Given the description of an element on the screen output the (x, y) to click on. 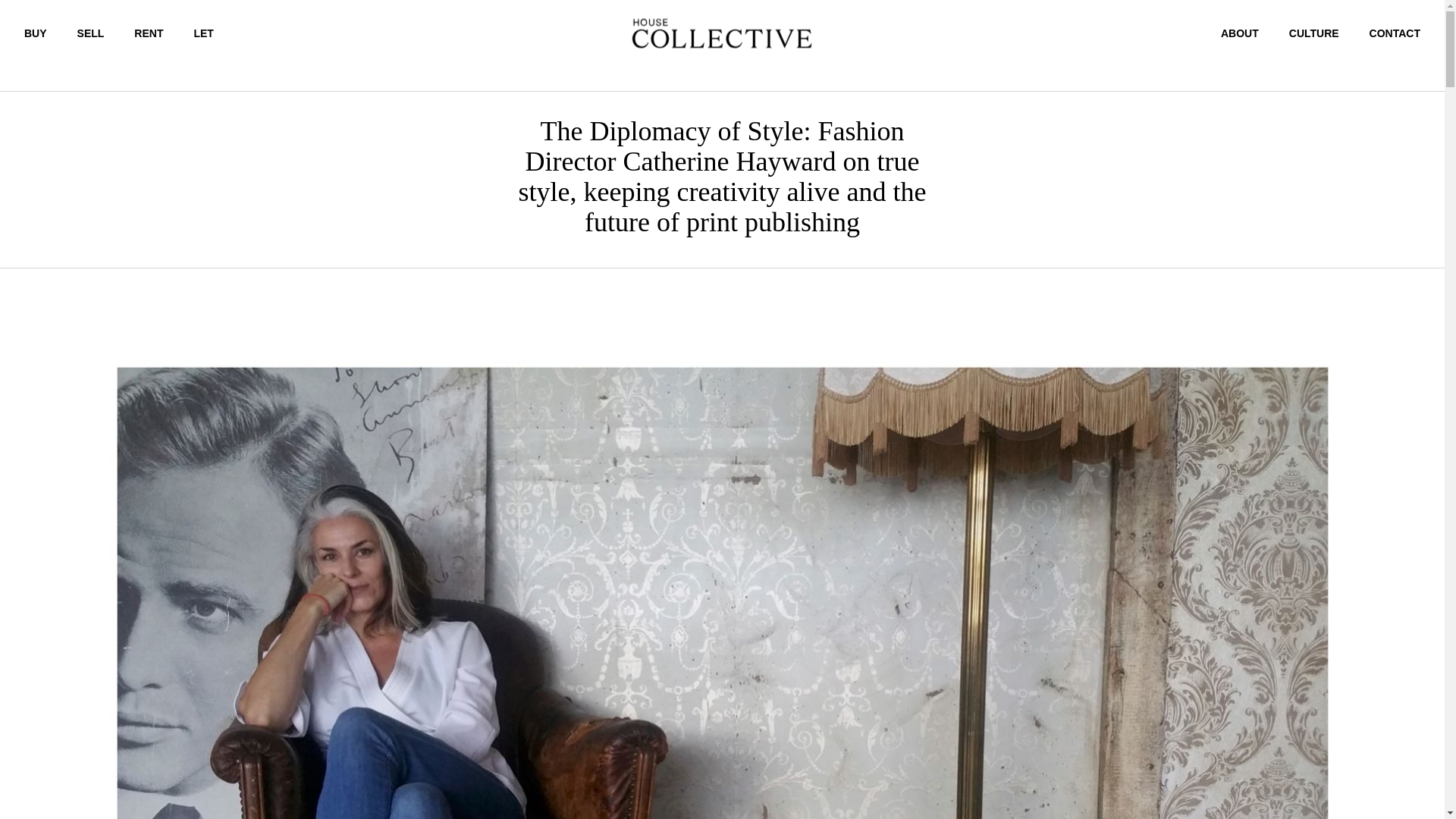
RENT (148, 33)
BUY (35, 33)
SELL (90, 33)
CULTURE (1313, 32)
ABOUT (1240, 32)
CONTACT (1395, 32)
LET (202, 33)
